Given the description of an element on the screen output the (x, y) to click on. 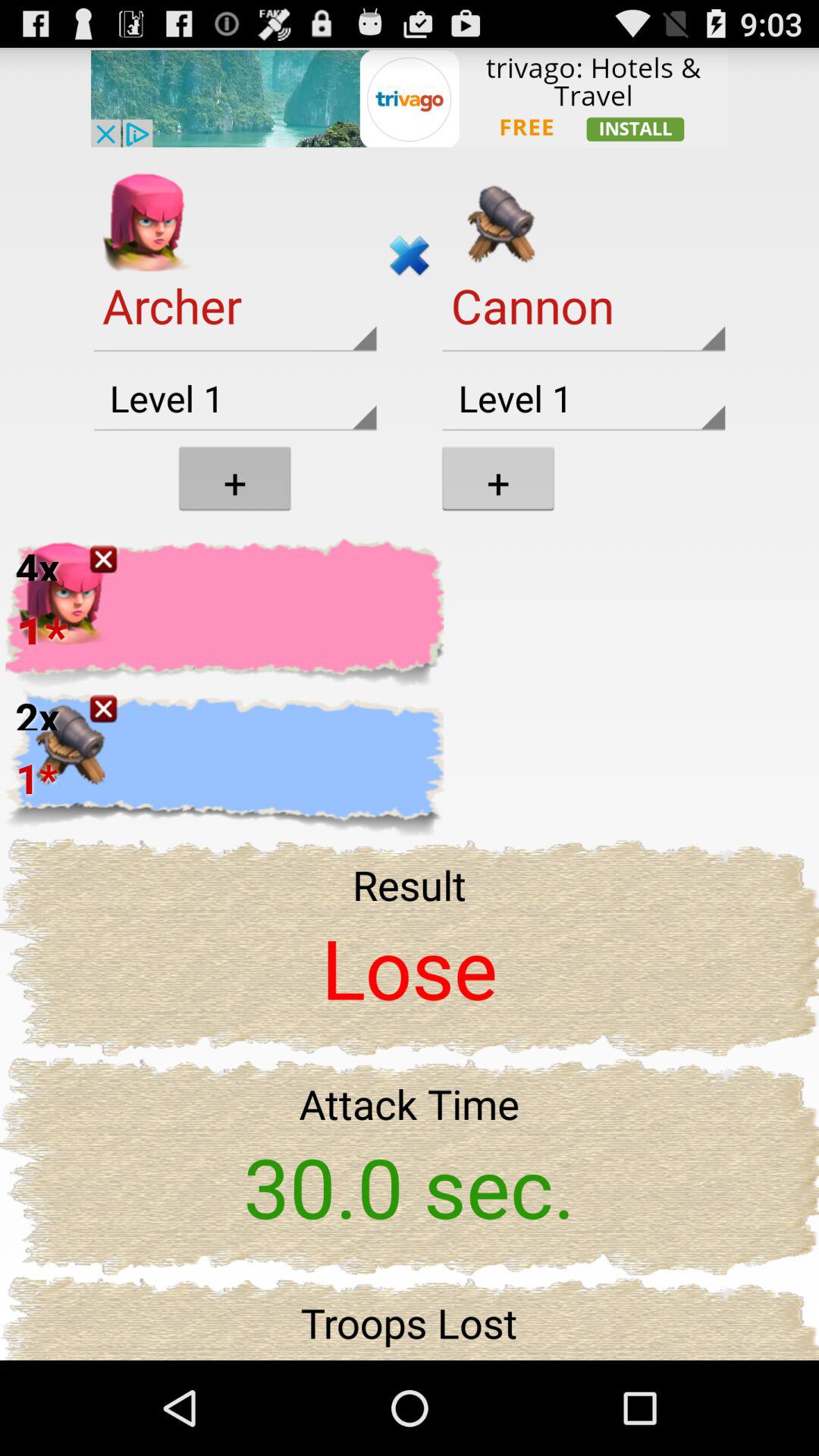
click on level1 (583, 398)
click on cross symbol (409, 255)
click on the icon which is below the cannon (497, 478)
